Given the description of an element on the screen output the (x, y) to click on. 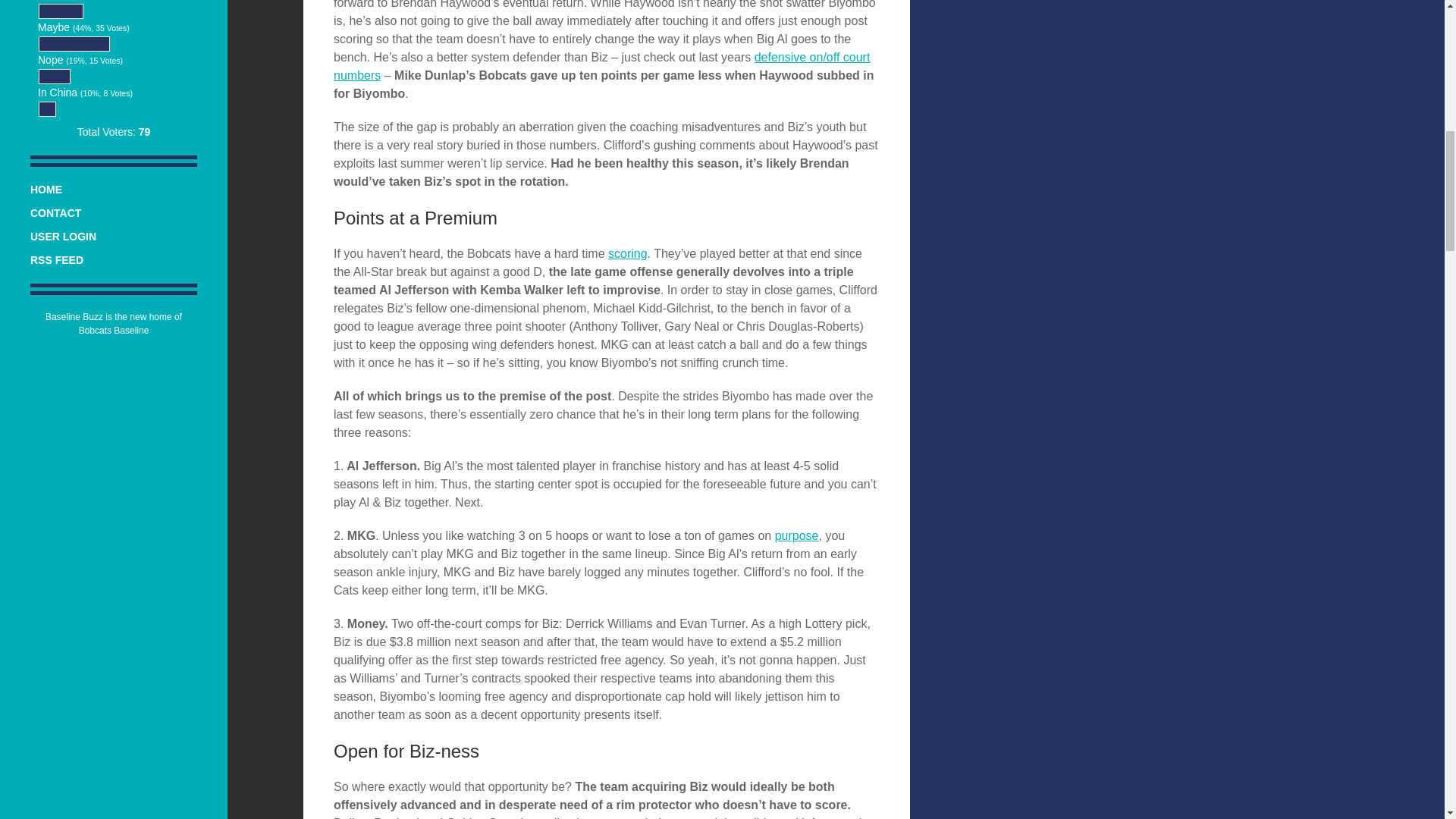
purpose (796, 535)
HOME (46, 189)
USER LOGIN (63, 236)
scoring (627, 253)
CONTACT (55, 213)
RSS FEED (56, 259)
